Given the description of an element on the screen output the (x, y) to click on. 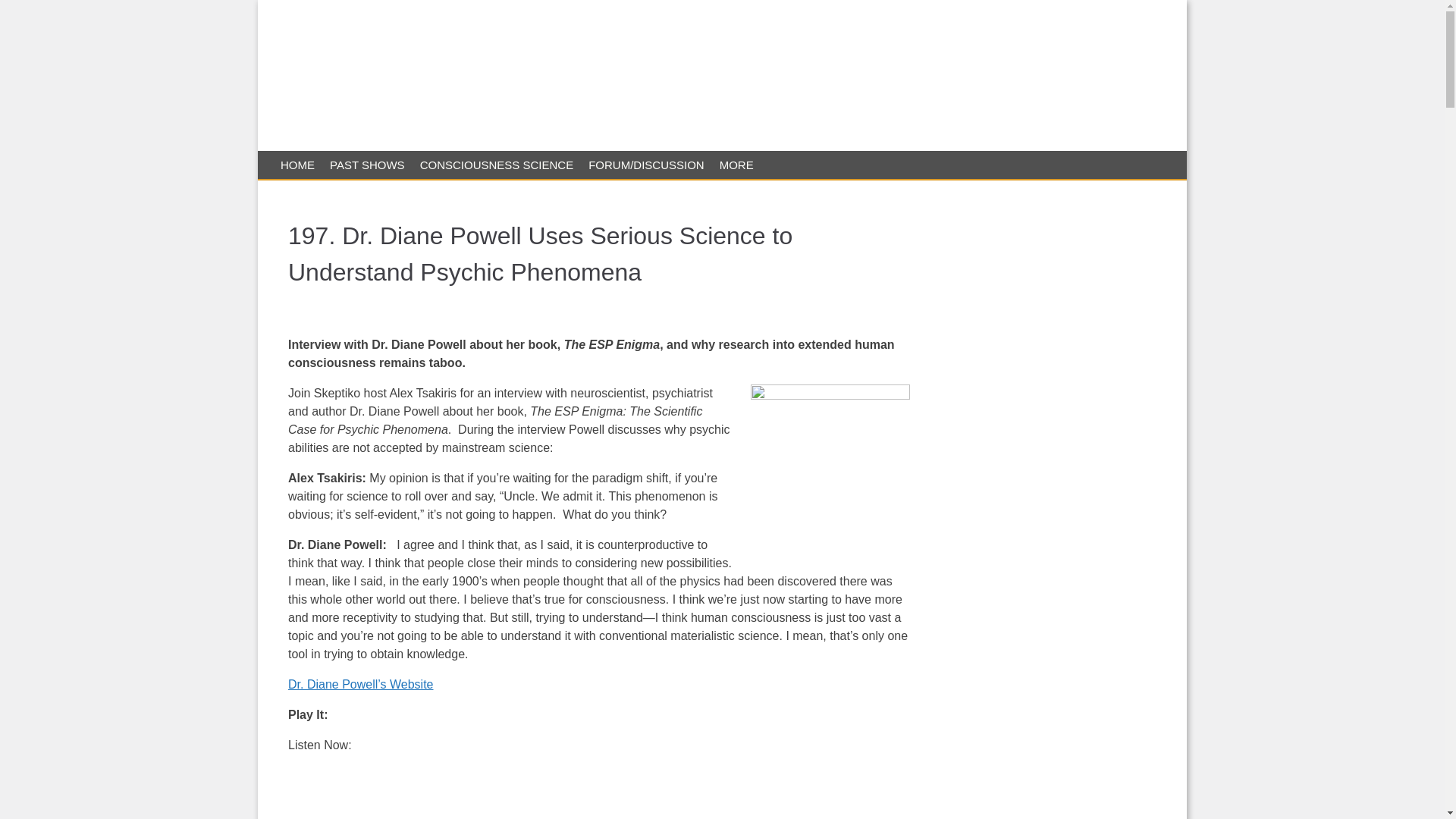
MORE (736, 164)
HOME (297, 164)
PAST SHOWS (366, 164)
CONSCIOUSNESS SCIENCE (496, 164)
Blubrry Podcast Player (599, 786)
